Given the description of an element on the screen output the (x, y) to click on. 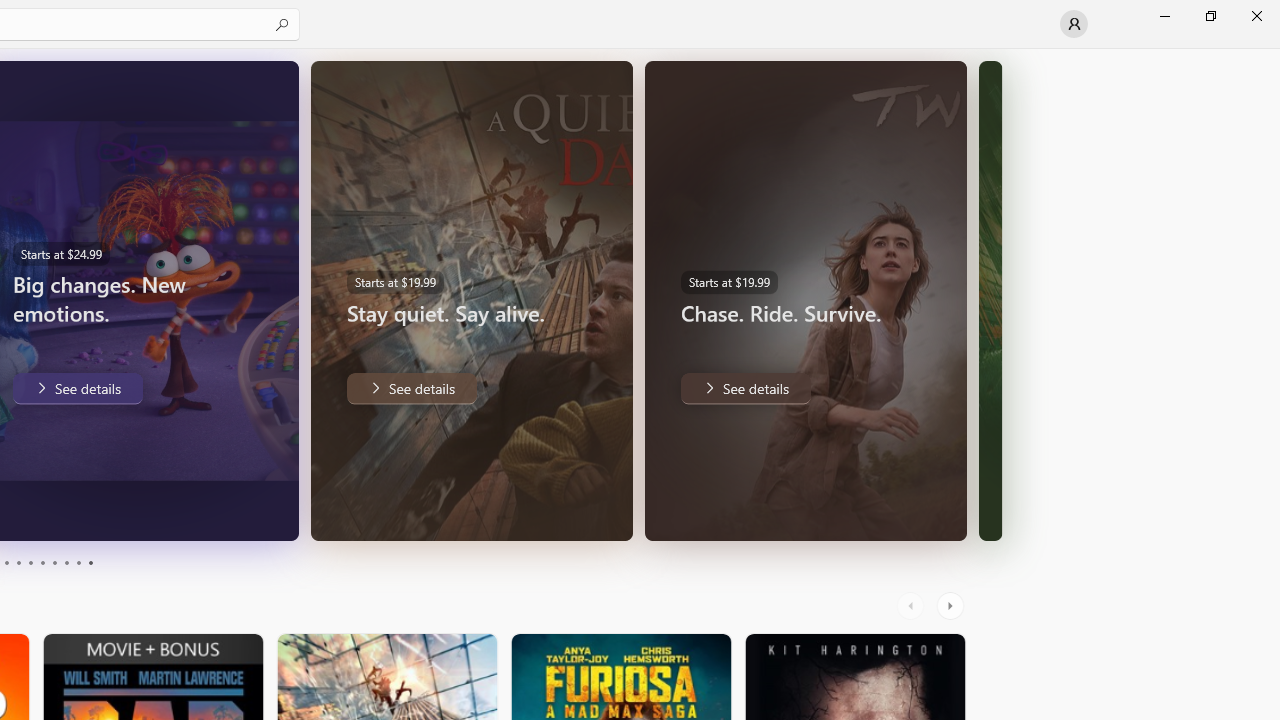
AutomationID: LeftScrollButton (913, 606)
User profile (1073, 24)
Page 3 (5, 562)
Minimize Microsoft Store (1164, 15)
